Given the description of an element on the screen output the (x, y) to click on. 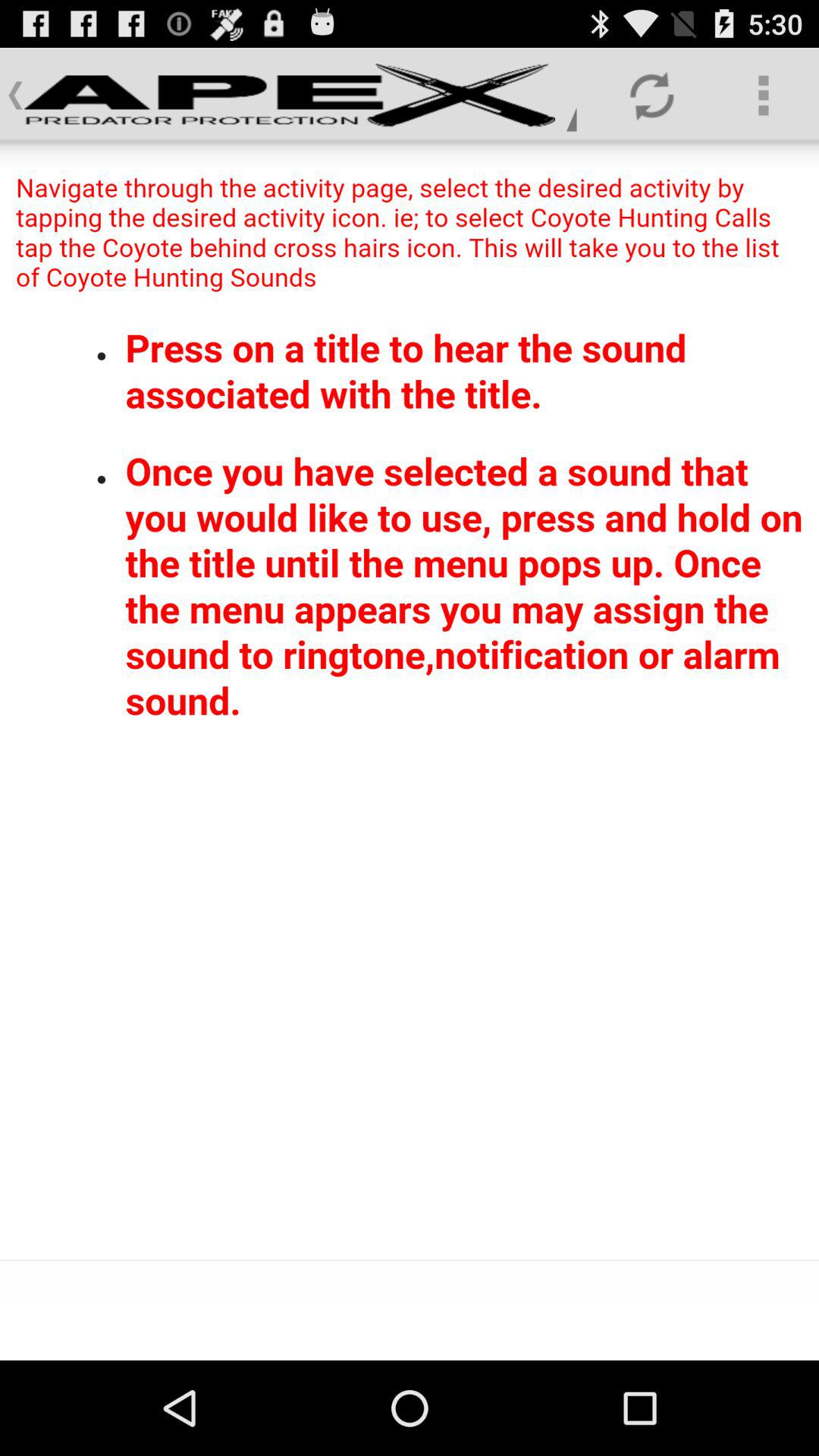
click the screen (409, 701)
